Given the description of an element on the screen output the (x, y) to click on. 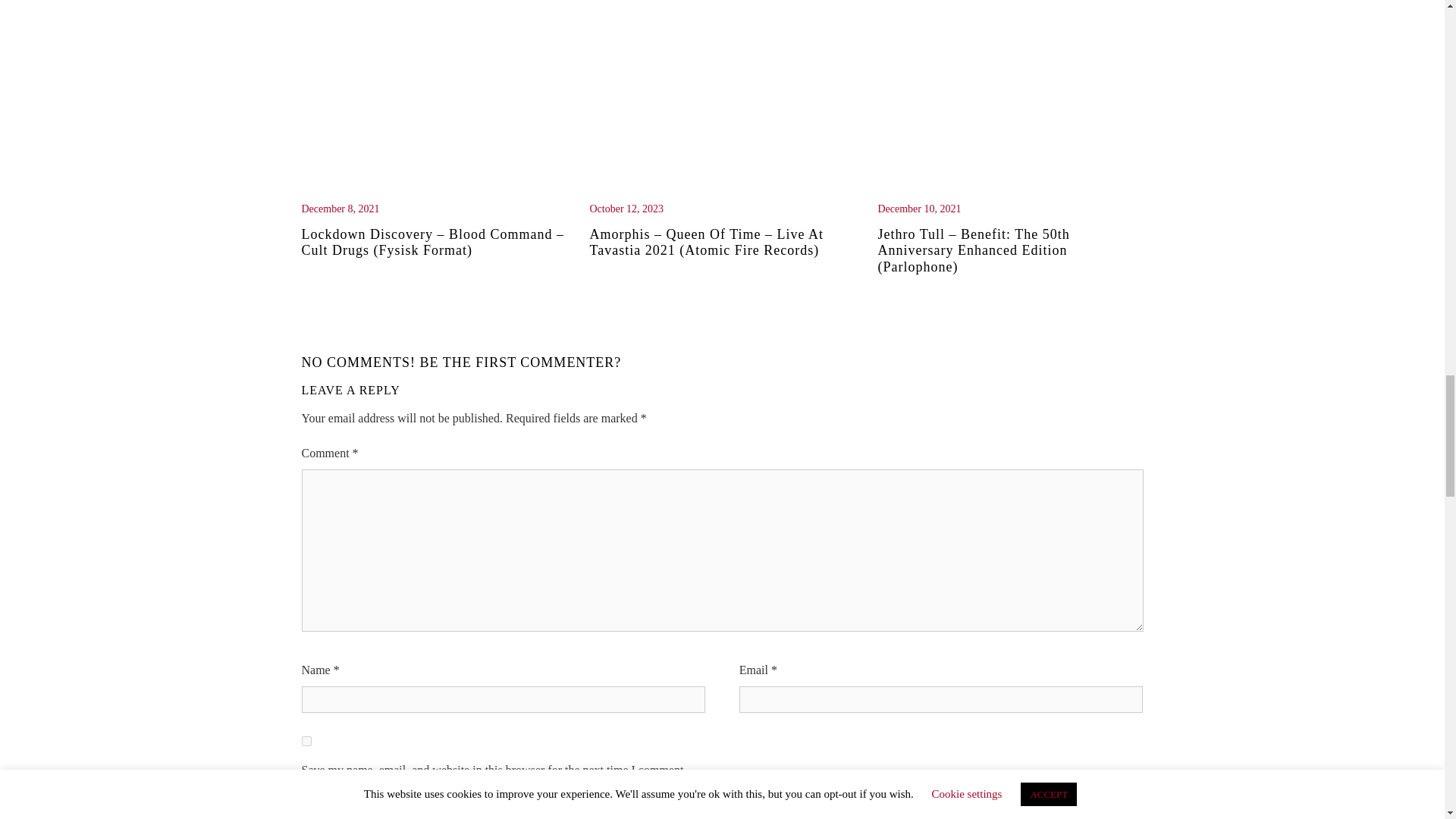
Post Comment (376, 807)
October 12, 2023 (721, 209)
Post Comment (376, 807)
December 8, 2021 (434, 209)
December 10, 2021 (1009, 209)
